Given the description of an element on the screen output the (x, y) to click on. 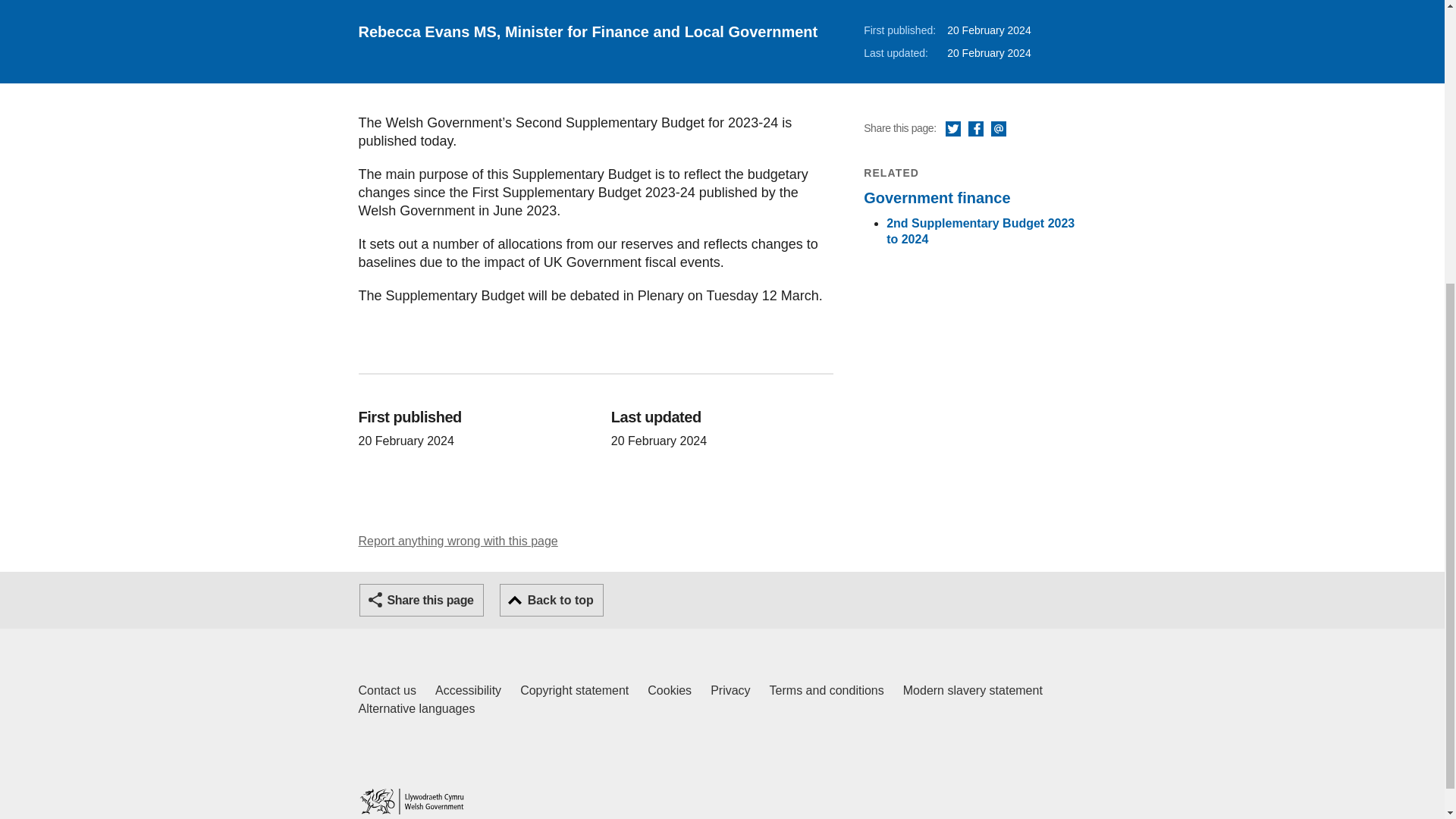
Copyright statement (573, 690)
Privacy (729, 690)
Back to top (551, 599)
Report anything wrong with this page (457, 540)
Terms and conditions (826, 690)
Facebook (976, 129)
Twitter (952, 129)
Cookies (669, 690)
2nd Supplementary Budget 2023 to 2024 (980, 231)
Accessibility (467, 690)
Modern slavery statement (972, 690)
Email (386, 690)
Alternative languages (998, 129)
Home (416, 709)
